Given the description of an element on the screen output the (x, y) to click on. 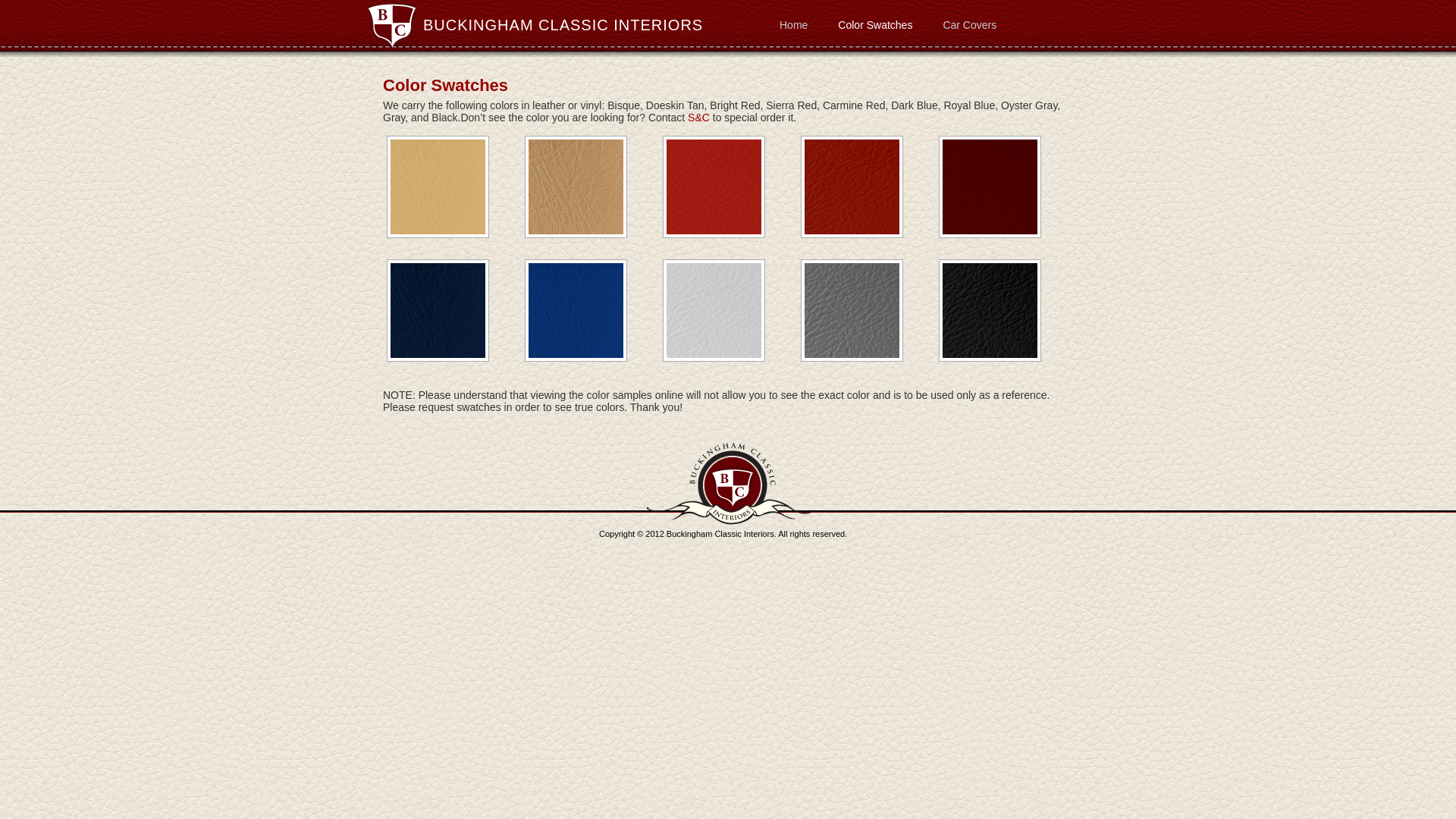
Dark Blue leather and vinyl upholstery color sample. (435, 310)
Sierra Red (851, 186)
BUCKINGHAM CLASSIC INTERIORS (563, 24)
Carmine Red (990, 186)
Bright Red leather and vinyl upholstery color sample. (712, 186)
Dark Blue (438, 310)
Carmine Red leather and vinyl upholstery color sample. (987, 186)
Car Covers (968, 24)
Color Swatches (875, 24)
Doeskin Tan (575, 186)
Home (793, 24)
Sierra Red leather and vinyl upholstery color sample. (849, 186)
Home (793, 24)
Doeskin tan leather and vinyl upholstery color sample. (574, 186)
Buckingham Classic Interiors (563, 24)
